Given the description of an element on the screen output the (x, y) to click on. 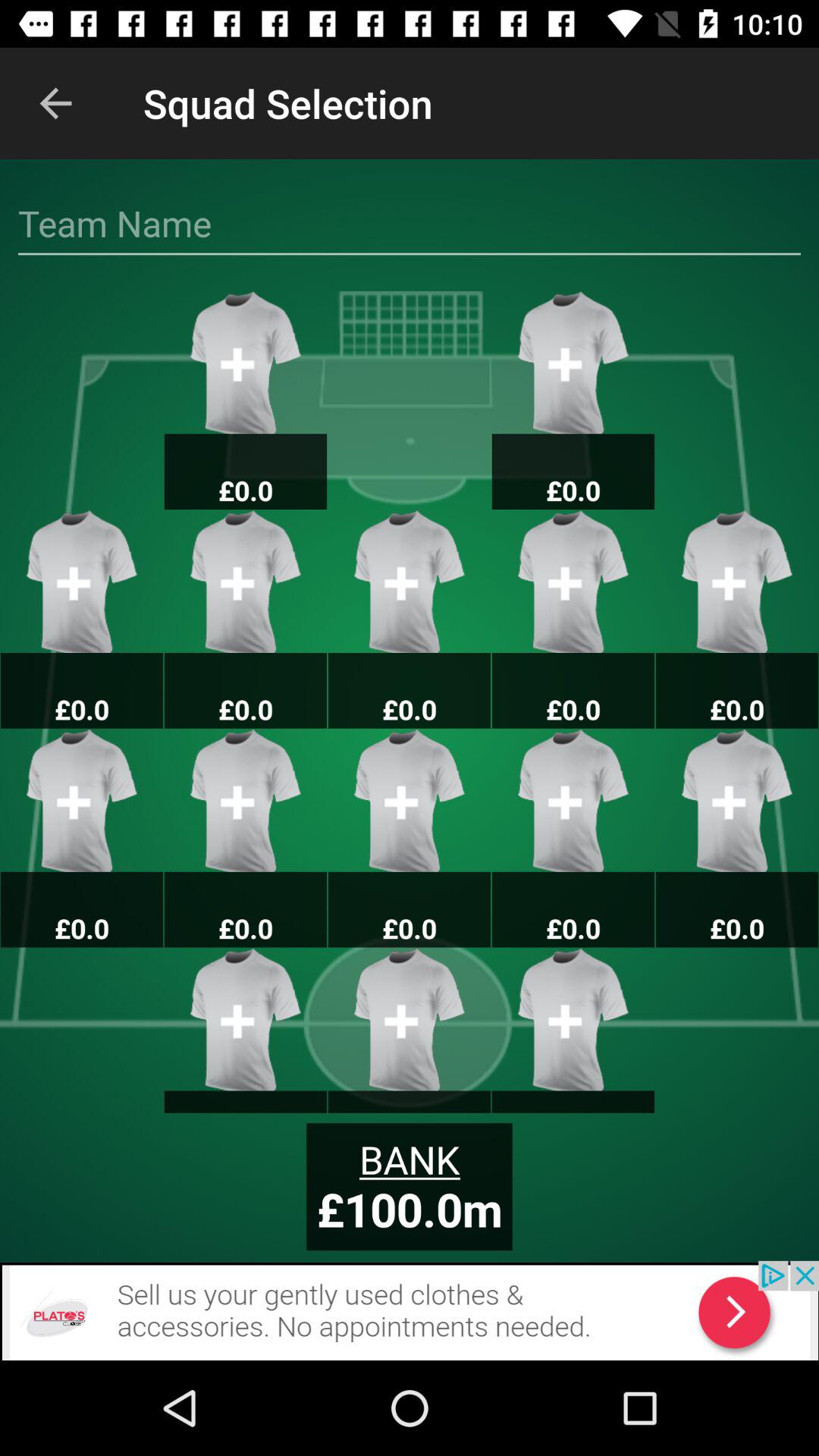
to view add (409, 1310)
